Given the description of an element on the screen output the (x, y) to click on. 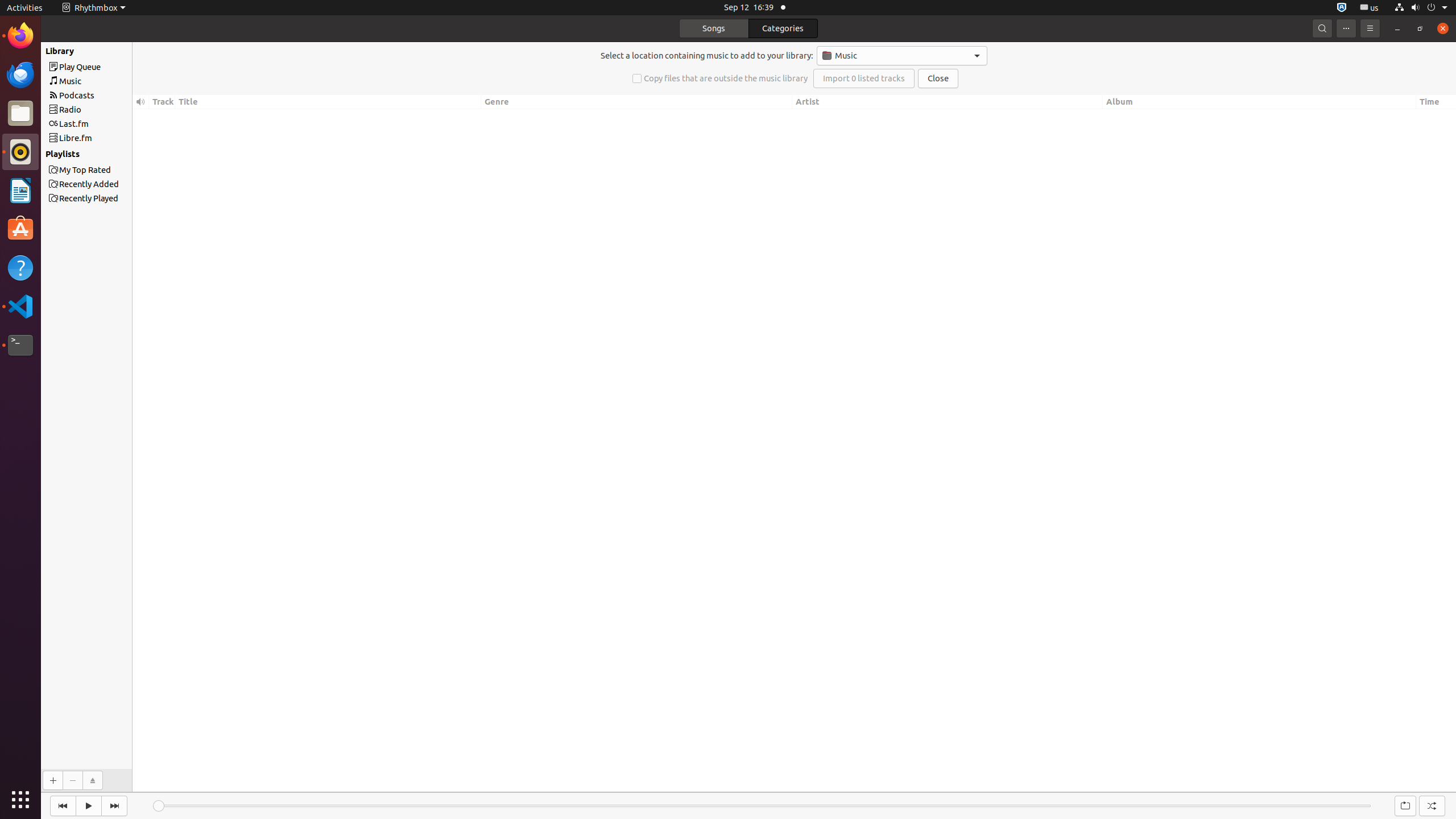
Album Element type: table-column-header (1259, 101)
Trash Element type: label (75, 108)
Libre.fm Element type: table-cell (106, 137)
Terminal Element type: push-button (20, 344)
